Given the description of an element on the screen output the (x, y) to click on. 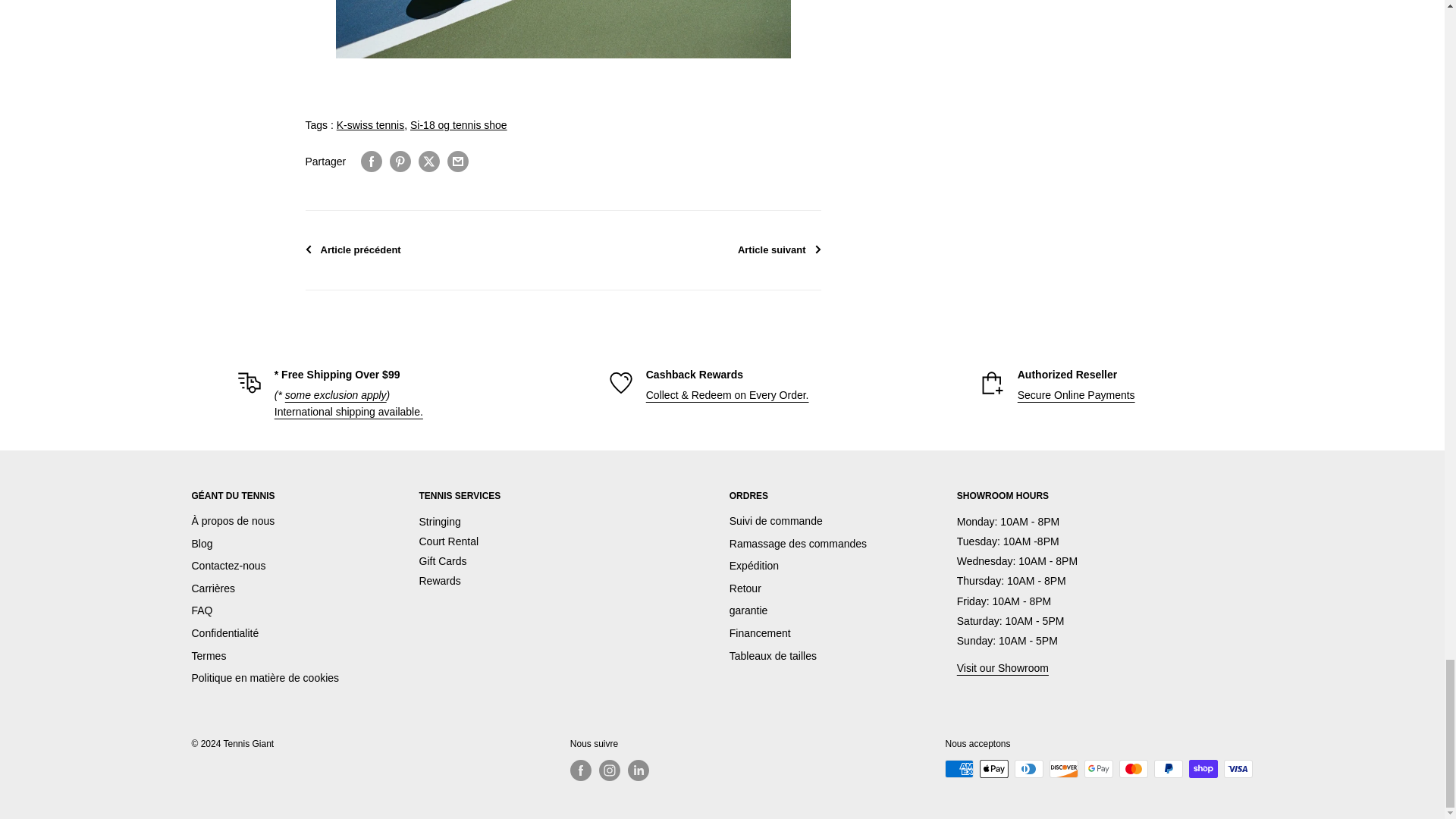
Visit Tennis Giant Showroom (1002, 667)
Tennis Giant Rewards (439, 580)
About Us (1076, 395)
Shipping (349, 411)
Shipping (336, 395)
